Given the description of an element on the screen output the (x, y) to click on. 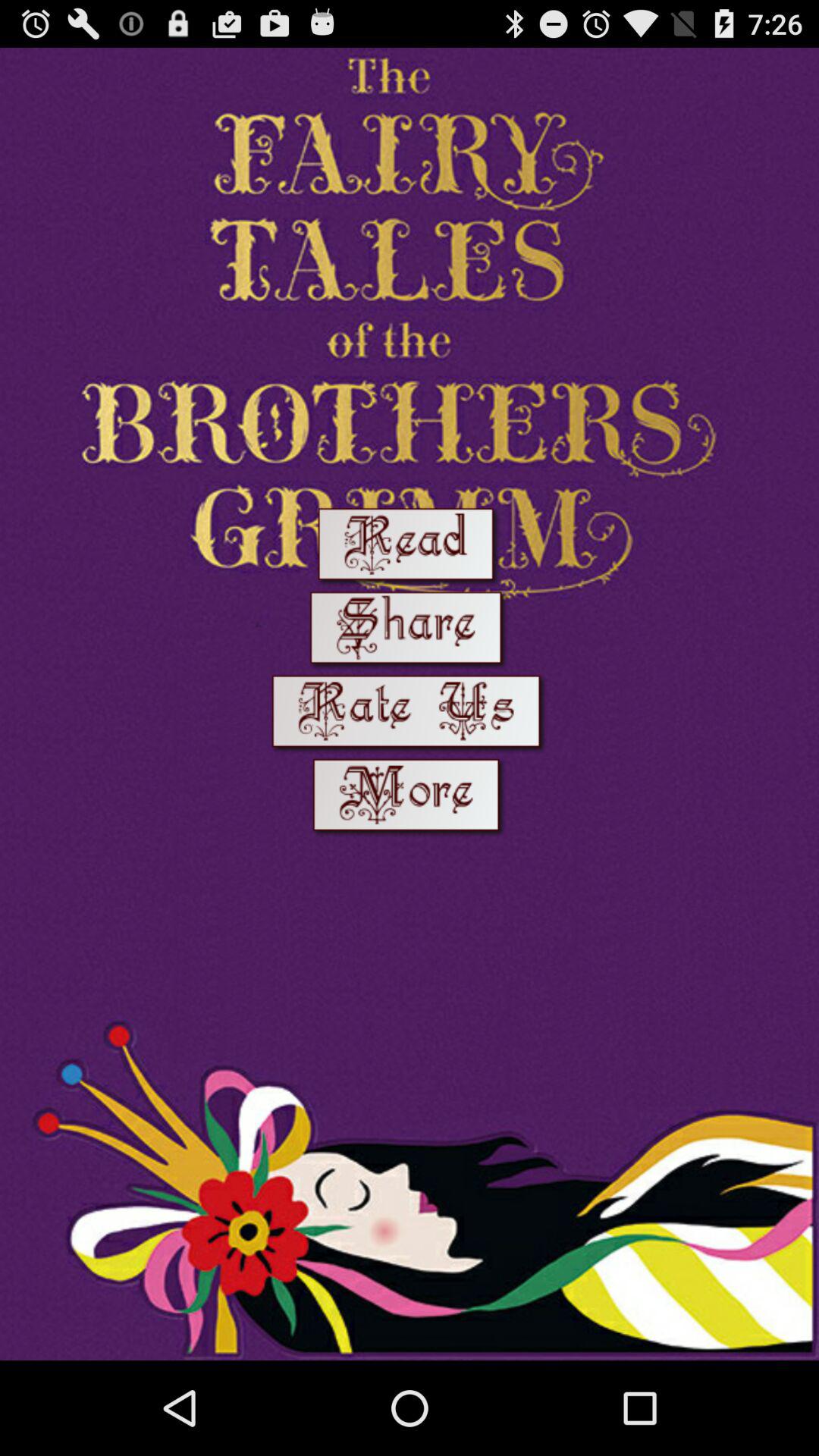
rate us option (409, 714)
